Given the description of an element on the screen output the (x, y) to click on. 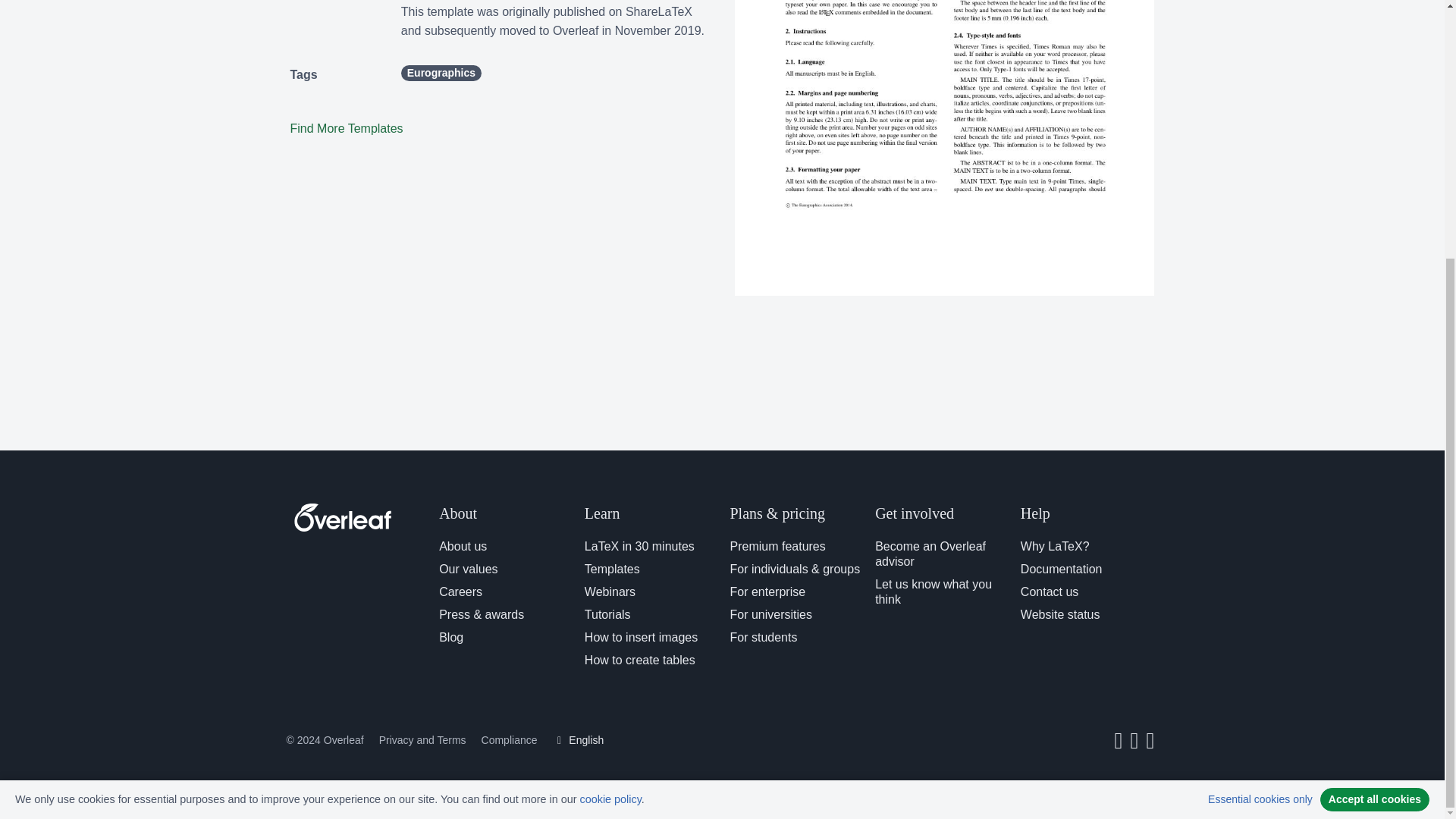
Blog (451, 636)
Eurographics (441, 73)
Our values (468, 568)
Tutorials (607, 614)
Premium features (777, 545)
For enterprise (767, 591)
LaTeX in 30 minutes (639, 545)
Templates (612, 568)
Webinars (609, 591)
Careers (460, 591)
How to insert images (641, 636)
How to create tables (640, 659)
Find More Templates (346, 128)
About us (462, 545)
